Given the description of an element on the screen output the (x, y) to click on. 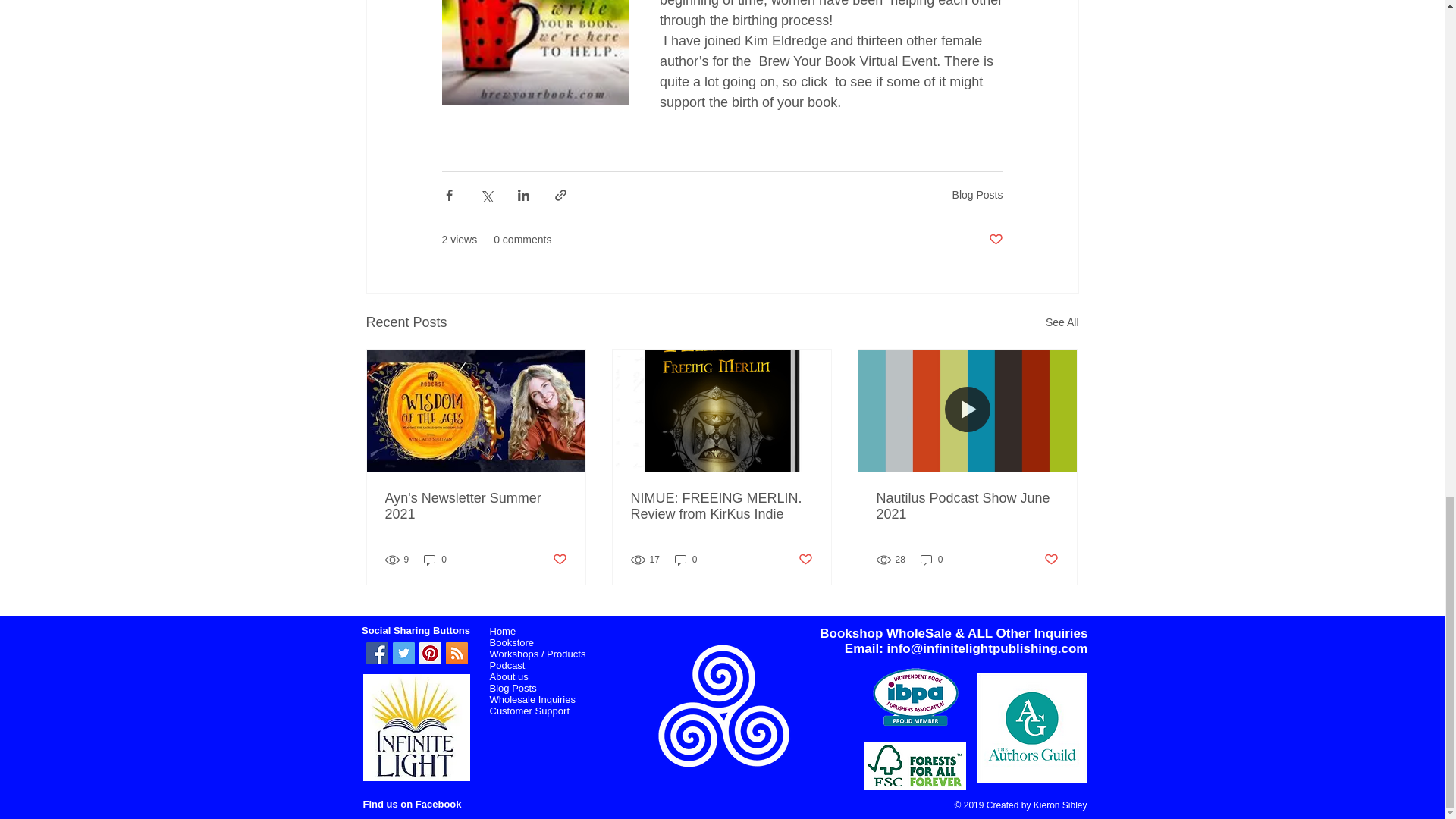
Post not marked as liked (804, 560)
Post not marked as liked (995, 239)
0 (685, 559)
Blog Posts (977, 193)
NIMUE: FREEING MERLIN. Review from KirKus Indie (721, 506)
Post not marked as liked (558, 560)
0 (435, 559)
See All (1061, 322)
Ayn's Newsletter Summer 2021 (476, 506)
